Given the description of an element on the screen output the (x, y) to click on. 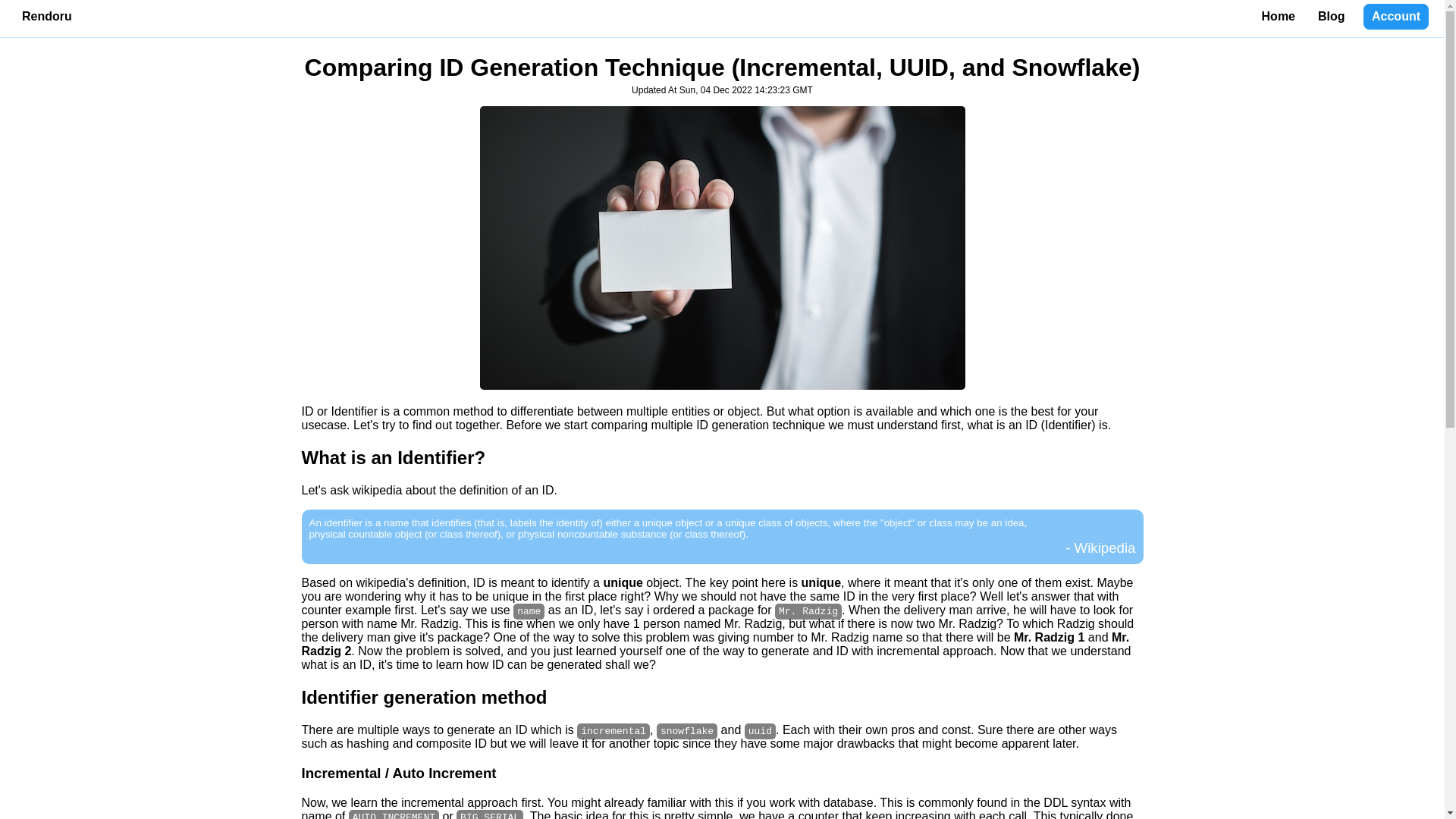
Account (1395, 16)
Rendoru (47, 16)
Home (1278, 16)
Blog (1331, 16)
